Given the description of an element on the screen output the (x, y) to click on. 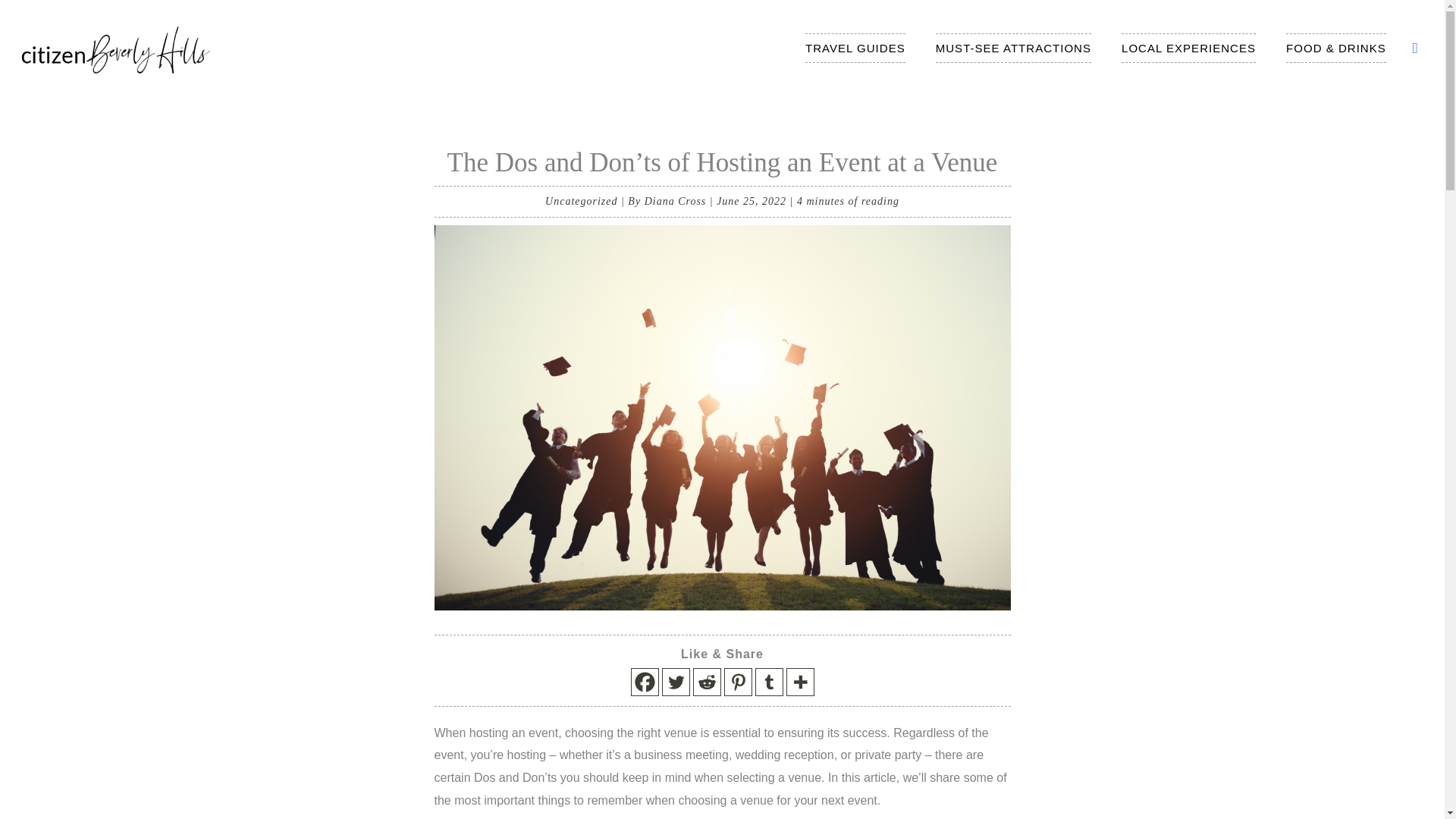
Facebook (644, 682)
MUST-SEE ATTRACTIONS (1013, 48)
Reddit (706, 682)
Uncategorized (580, 201)
More (799, 682)
Diana Cross (677, 201)
View all posts by Diana Cross (677, 201)
LOCAL EXPERIENCES (1188, 48)
Tumblr (769, 682)
Twitter (674, 682)
Pinterest (737, 682)
TRAVEL GUIDES (855, 48)
